Given the description of an element on the screen output the (x, y) to click on. 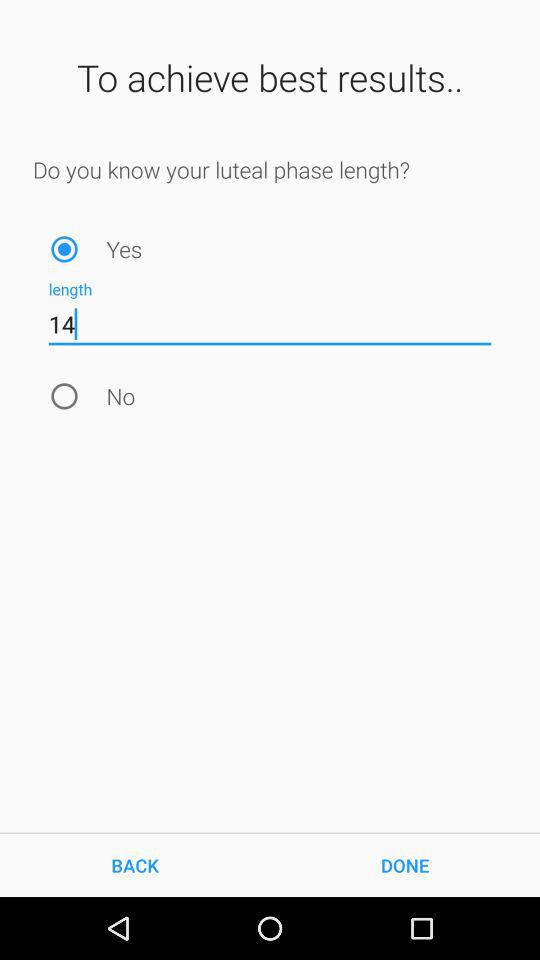
turn off icon to the left of the no item (64, 395)
